Given the description of an element on the screen output the (x, y) to click on. 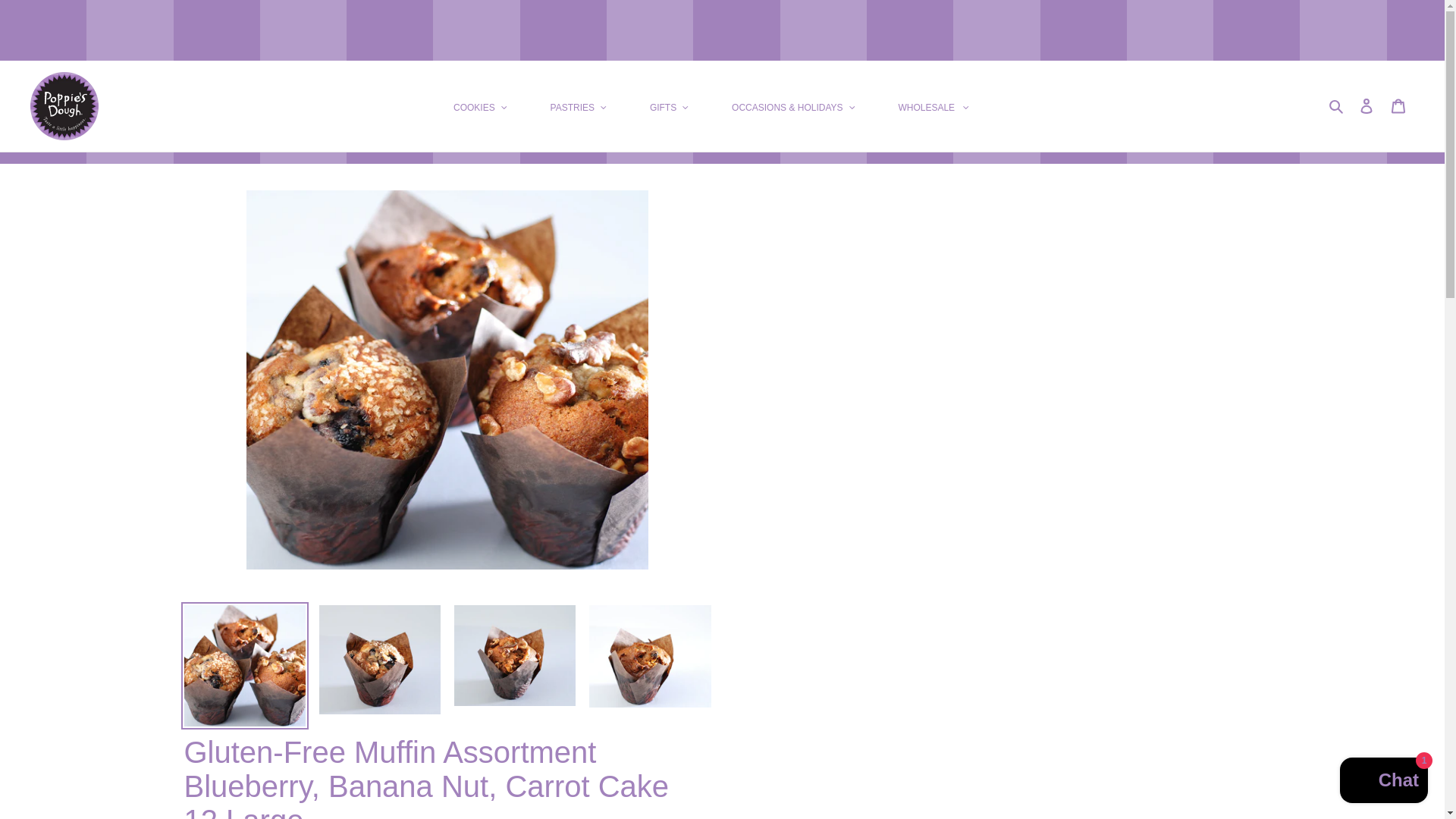
COOKIES (479, 105)
GIFTS (668, 105)
Shopify online store chat (1383, 781)
Search (1337, 105)
PASTRIES (578, 105)
WHOLESALE (932, 105)
